Given the description of an element on the screen output the (x, y) to click on. 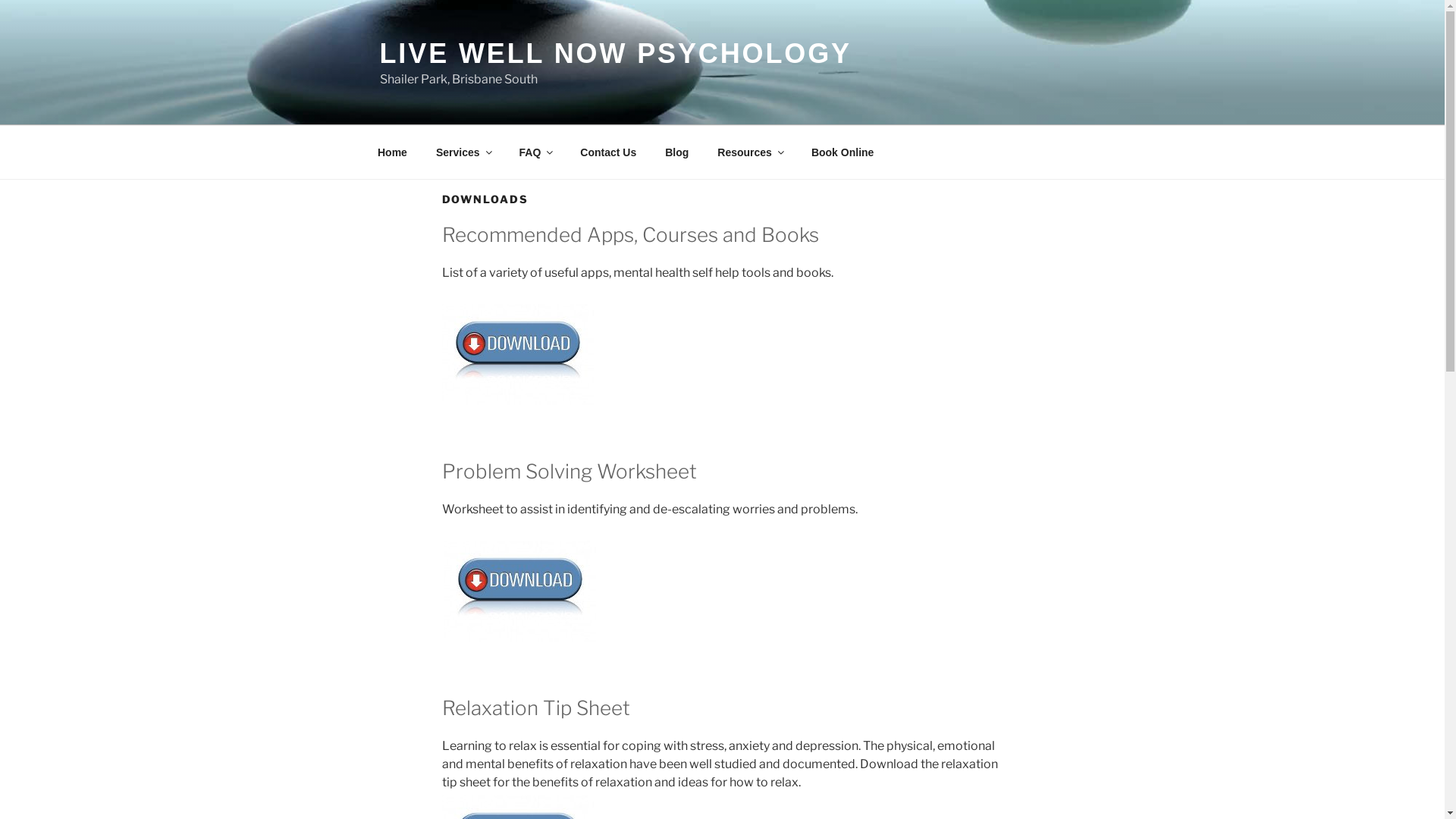
FAQ Element type: text (534, 151)
Resources Element type: text (750, 151)
Contact Us Element type: text (608, 151)
Blog Element type: text (677, 151)
Services Element type: text (462, 151)
Home Element type: text (392, 151)
LIVE WELL NOW PSYCHOLOGY Element type: text (614, 53)
Book Online Element type: text (841, 151)
